Given the description of an element on the screen output the (x, y) to click on. 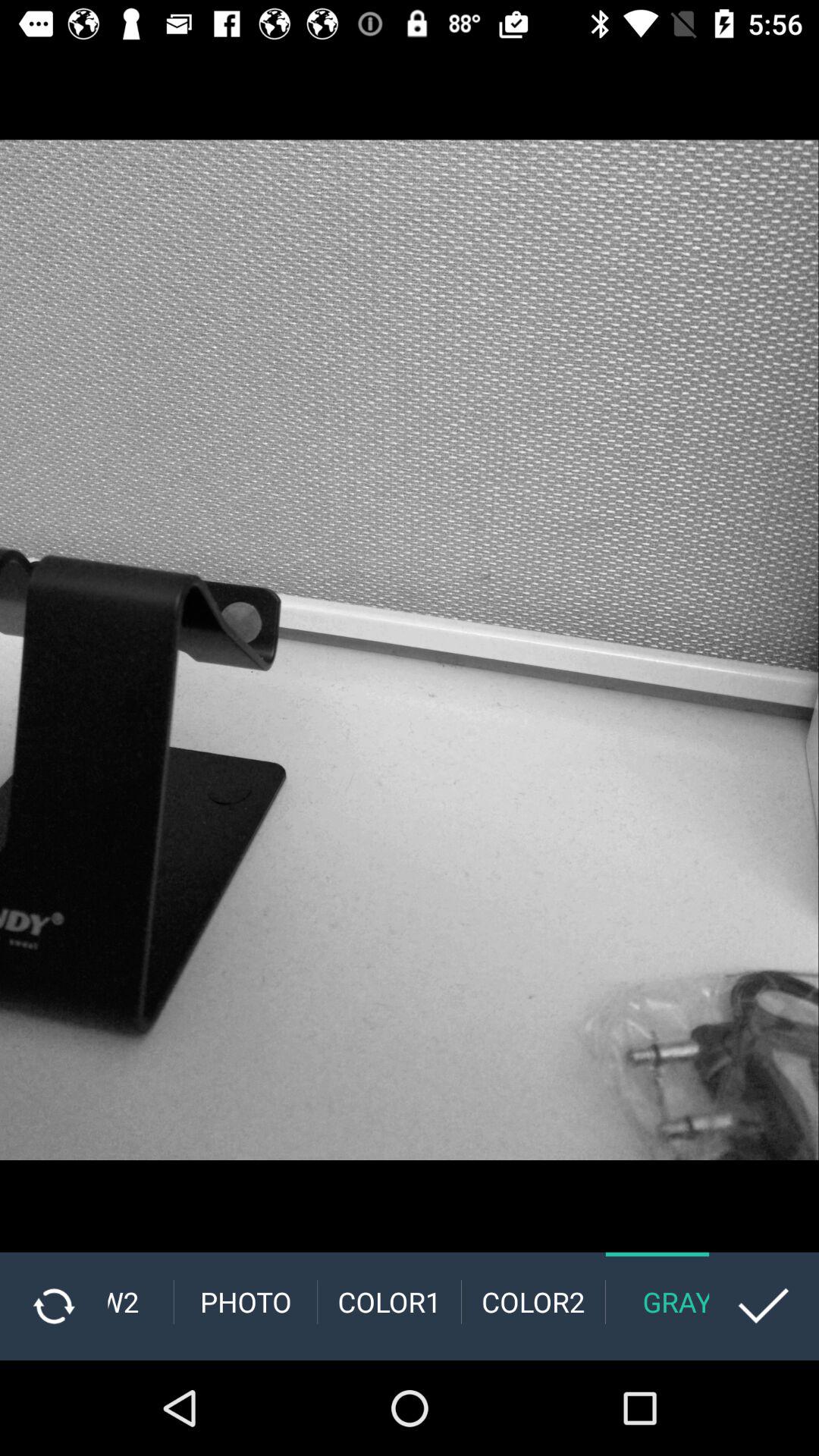
click photo item (245, 1301)
